Given the description of an element on the screen output the (x, y) to click on. 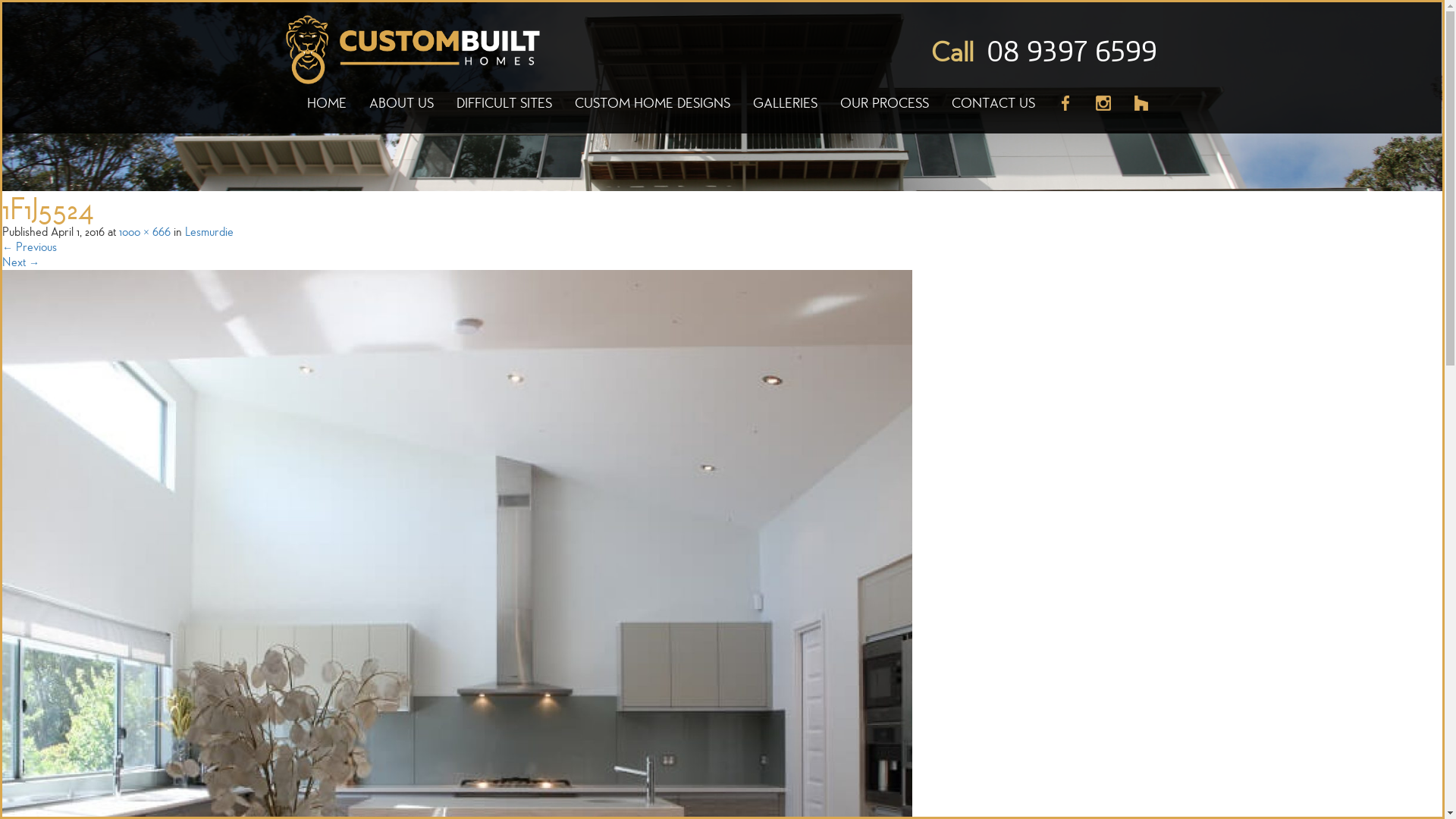
<span class="icon-in"></span> Element type: hover (1103, 111)
DIFFICULT SITES Element type: text (504, 111)
1F1J5524 Element type: hover (457, 723)
CUSTOM HOME DESIGNS Element type: text (652, 111)
<span class="icon-ho"></span> Element type: hover (1135, 111)
<span class="icon-facebook"></span> Element type: hover (1065, 111)
Search Element type: text (26, 12)
CONTACT US Element type: text (993, 111)
Lesmurdie Element type: text (209, 231)
GALLERIES Element type: text (784, 111)
OUR PROCESS Element type: text (884, 111)
ABOUT US Element type: text (401, 111)
HOME Element type: text (326, 111)
08 9397 6599 Element type: text (1071, 51)
